Given the description of an element on the screen output the (x, y) to click on. 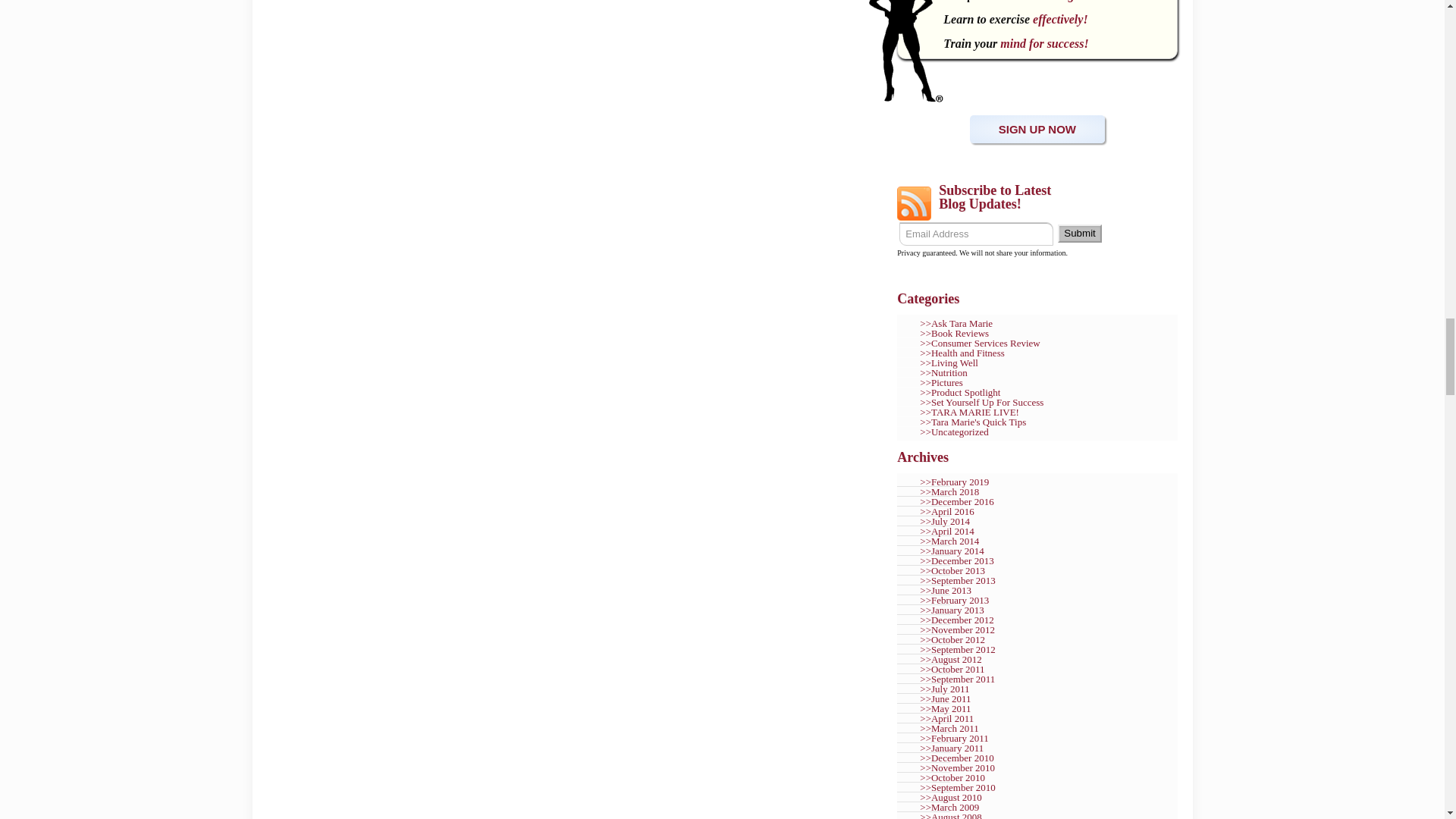
Submit (1079, 233)
